Given the description of an element on the screen output the (x, y) to click on. 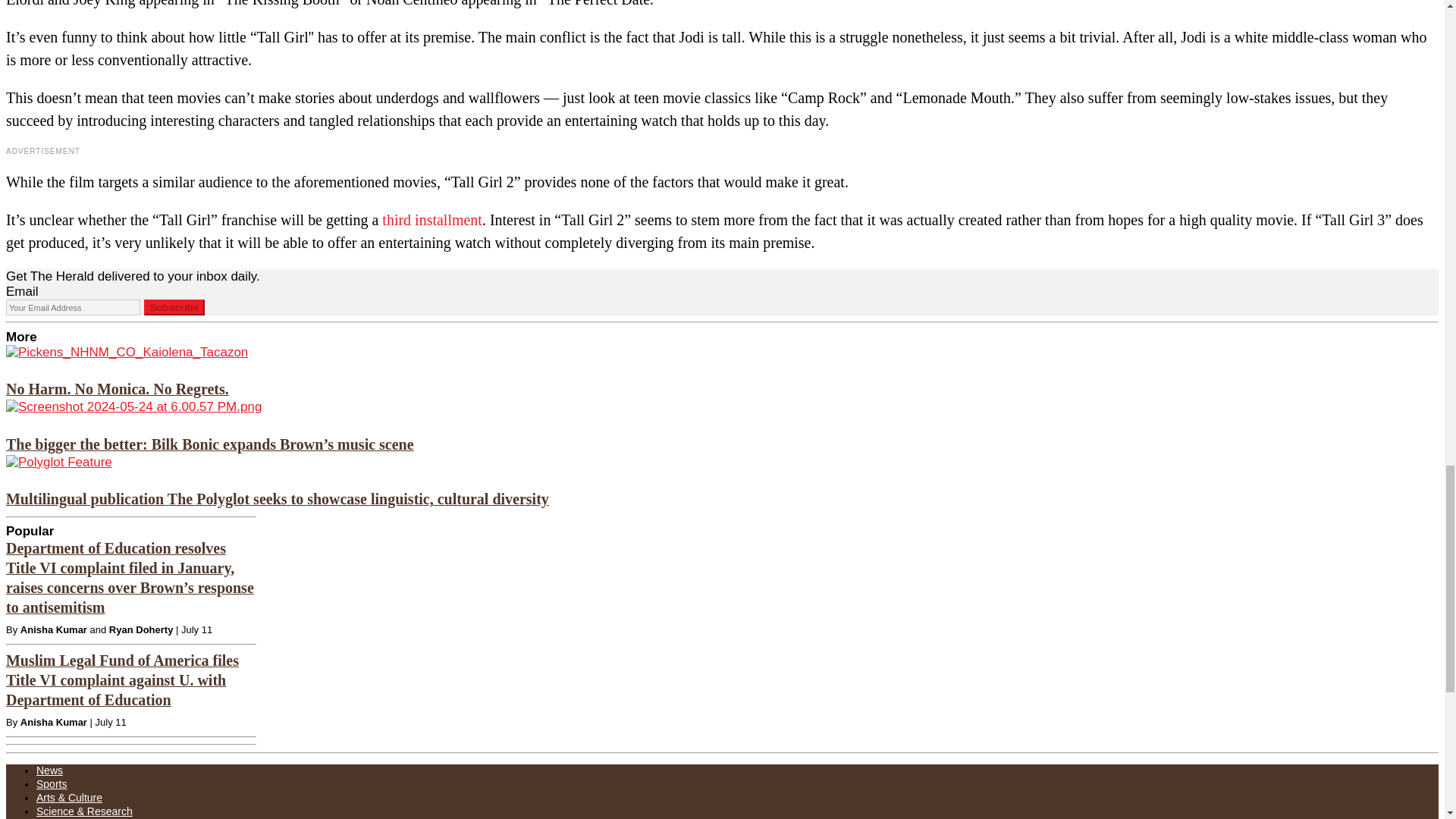
No Harm. No Monica. No Regrets. (116, 388)
Subscribe (174, 307)
